Given the description of an element on the screen output the (x, y) to click on. 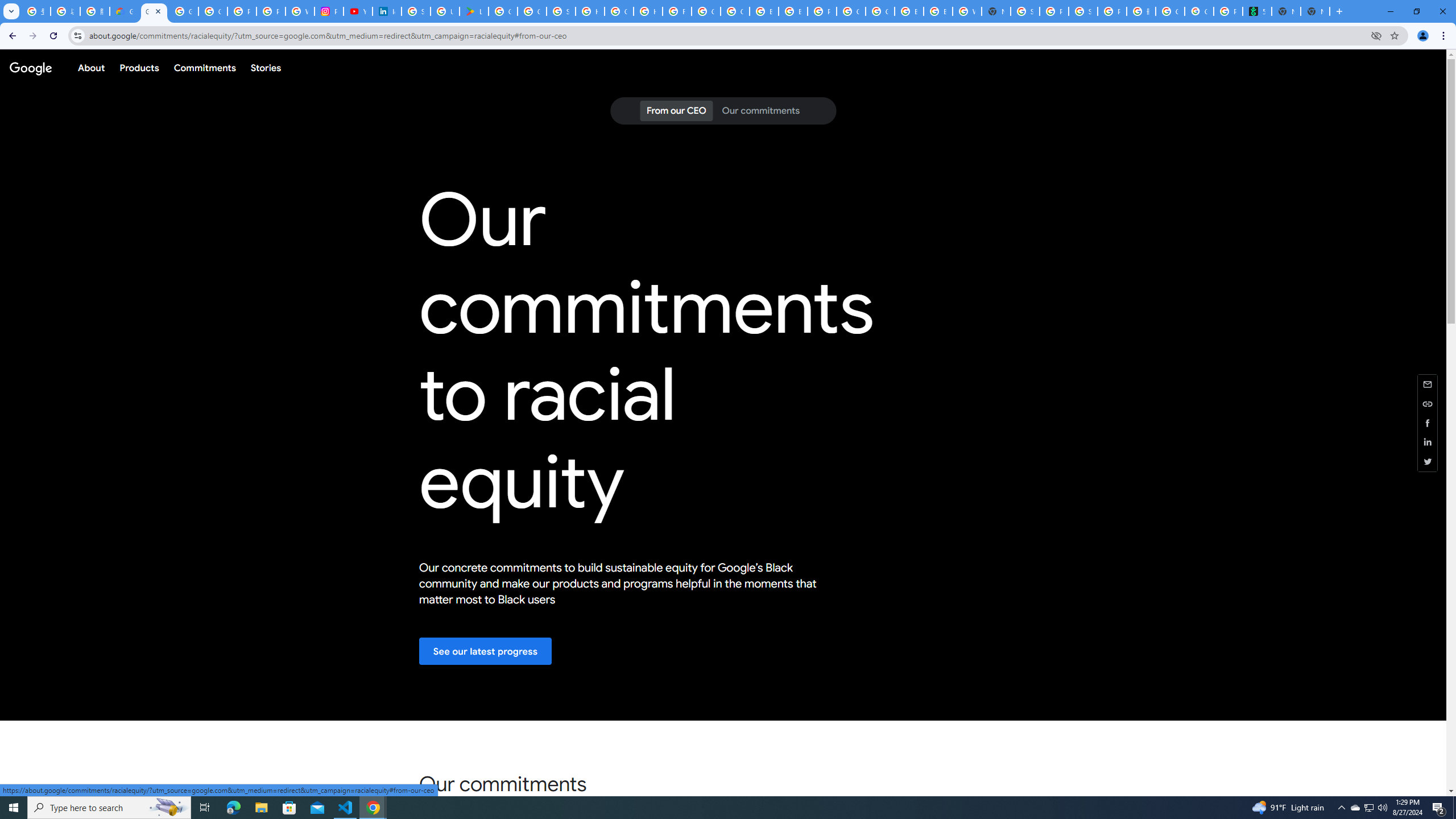
Browse Chrome as a guest - Computer - Google Chrome Help (938, 11)
Sign in - Google Accounts (1025, 11)
Browse Chrome as a guest - Computer - Google Chrome Help (908, 11)
How do I create a new Google Account? - Google Account Help (648, 11)
